Given the description of an element on the screen output the (x, y) to click on. 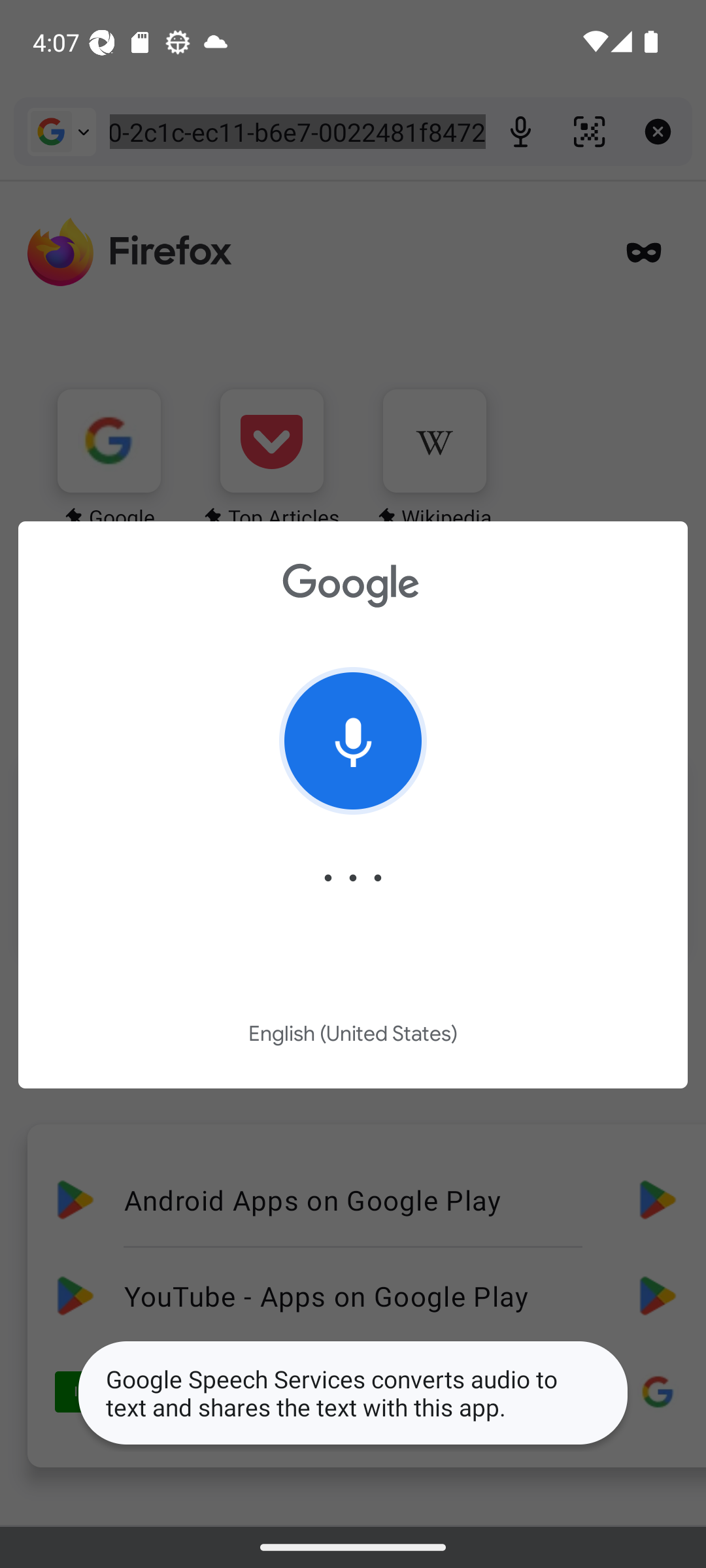
Tap to stop listening (353, 740)
